Given the description of an element on the screen output the (x, y) to click on. 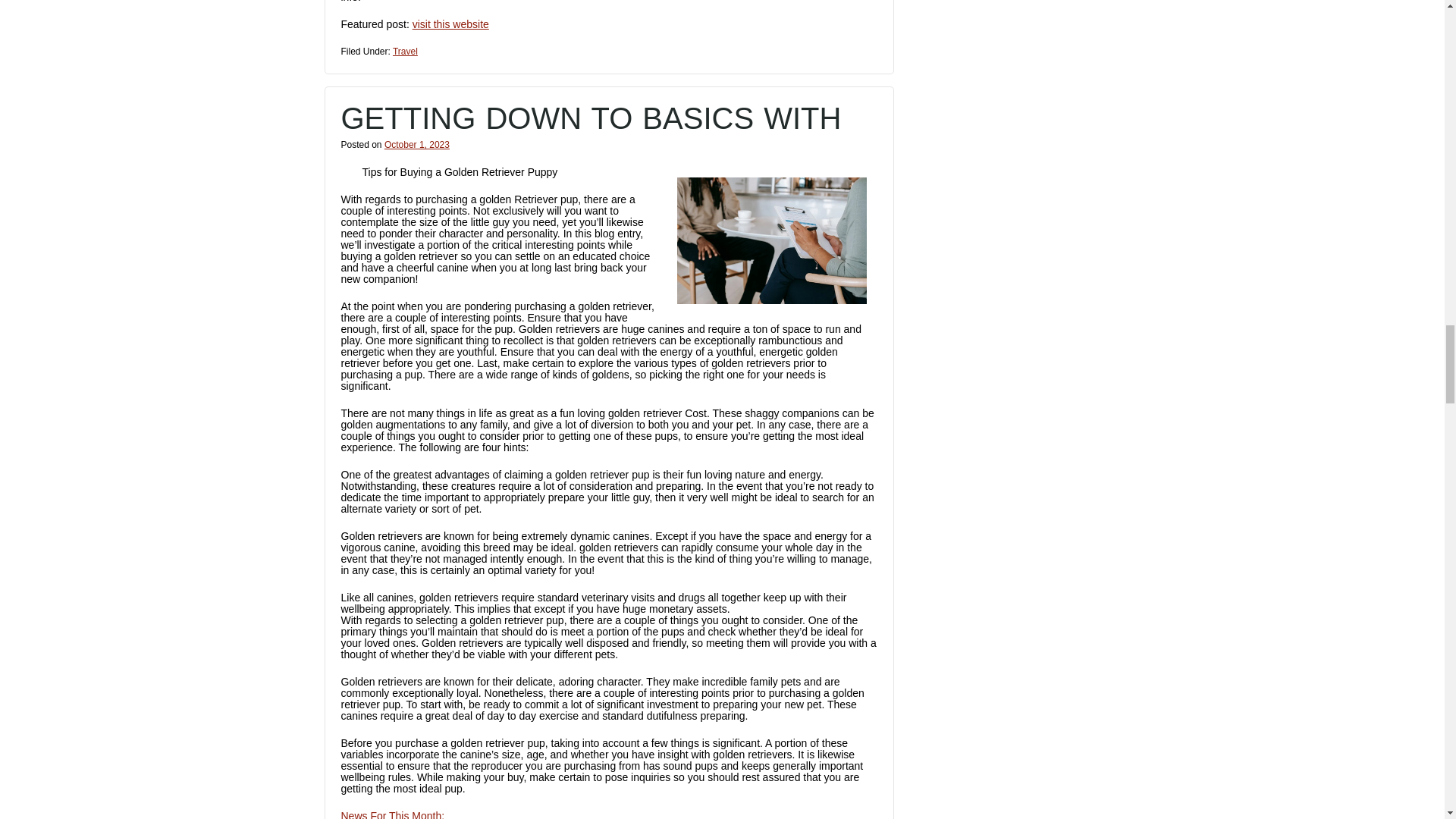
GETTING DOWN TO BASICS WITH (590, 118)
News For This Month: (392, 814)
Permalink to Getting Down To Basics with (590, 118)
Travel (405, 50)
October 1, 2023 (416, 144)
9:21 pm (416, 144)
visit this website (450, 24)
